Given the description of an element on the screen output the (x, y) to click on. 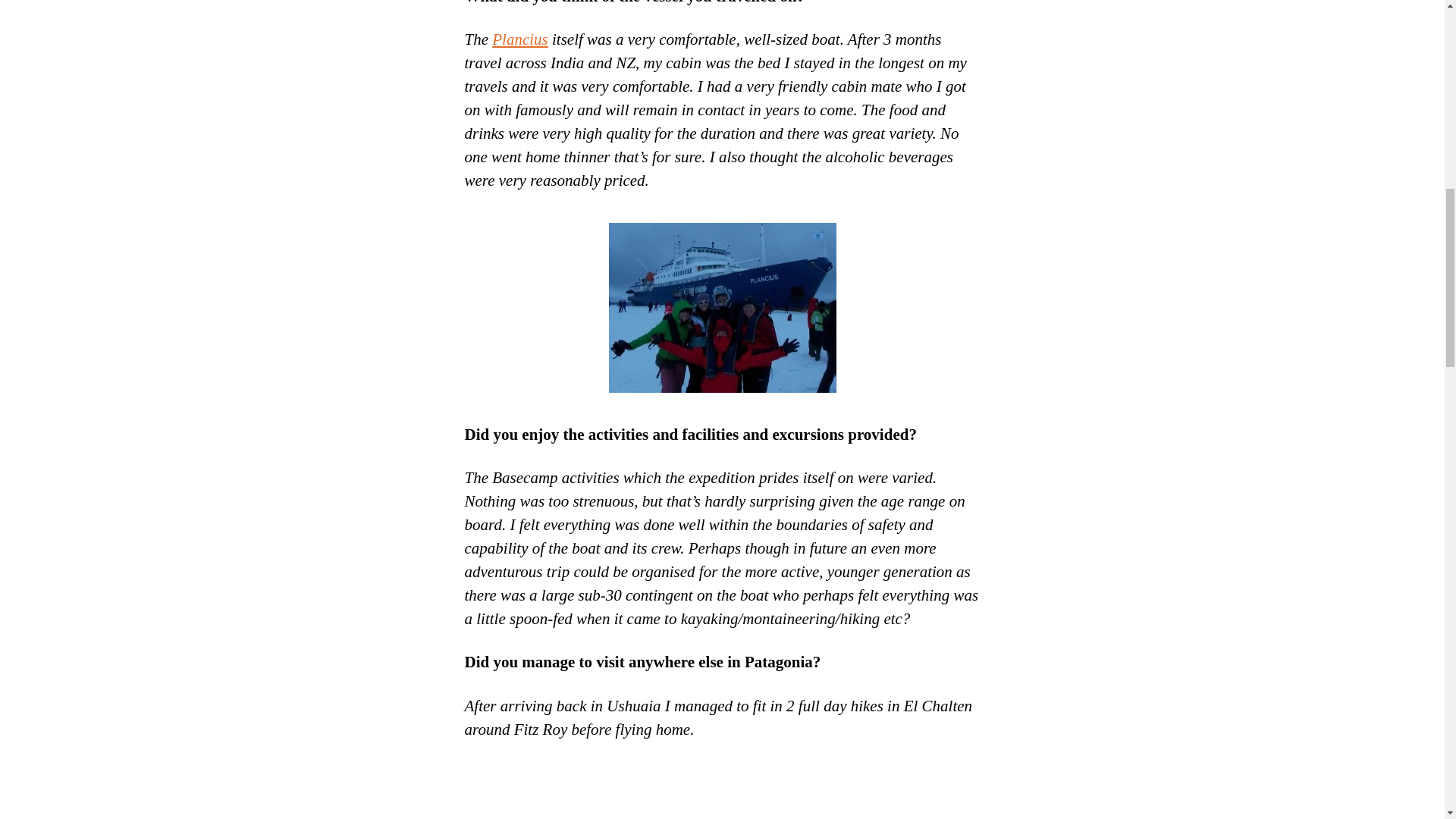
Plancius (520, 39)
